Given the description of an element on the screen output the (x, y) to click on. 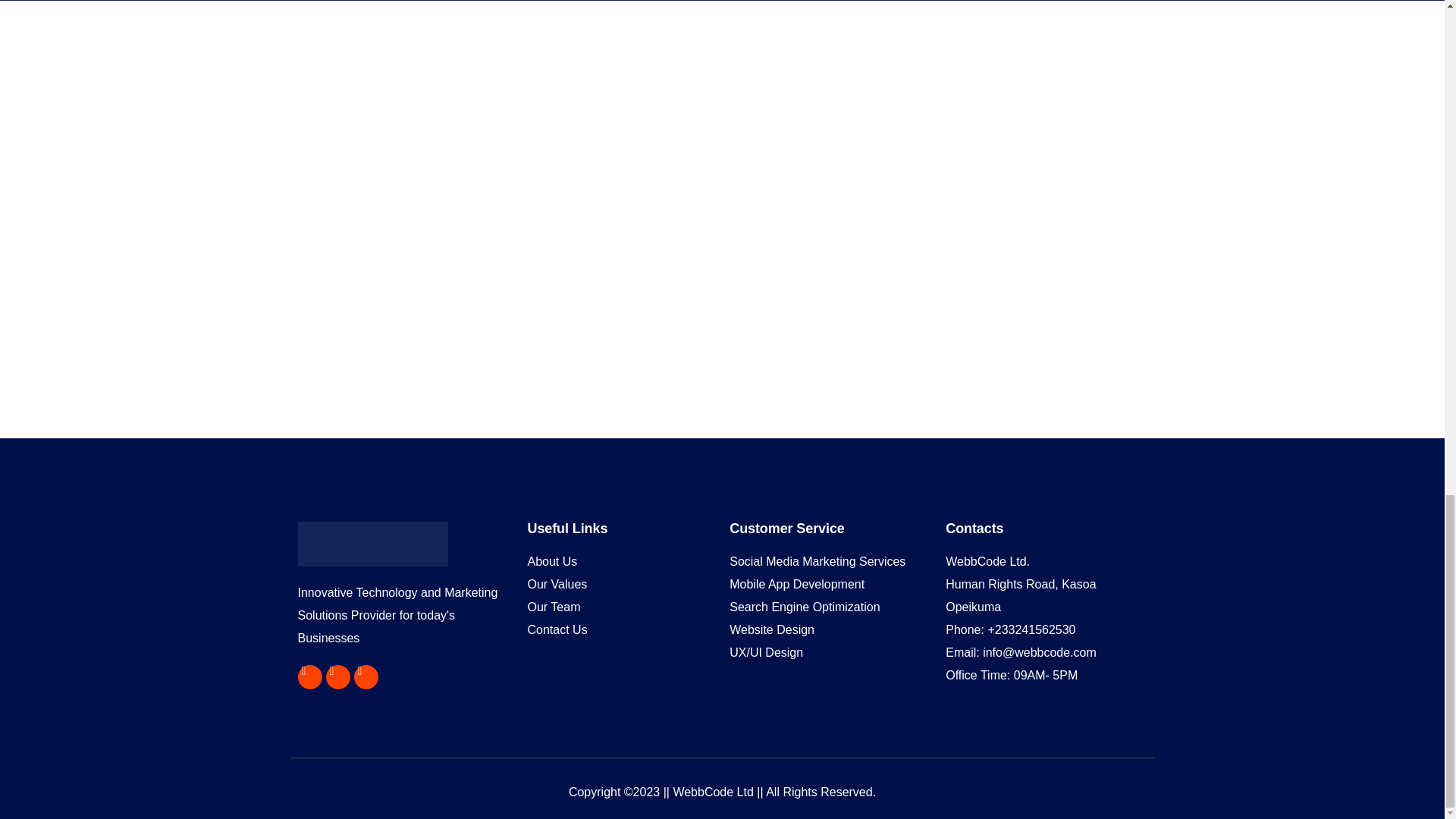
Our Values (620, 584)
Mobile App Development (829, 584)
Office Time: 09AM- 5PM (1045, 675)
Website Design (829, 630)
Our Team (620, 607)
Social Media Marketing Services (829, 561)
Human Rights Road, Kasoa Opeikuma (1045, 596)
About Us (620, 561)
Contact Us (620, 630)
WebbCode Ltd. (1045, 561)
